Given the description of an element on the screen output the (x, y) to click on. 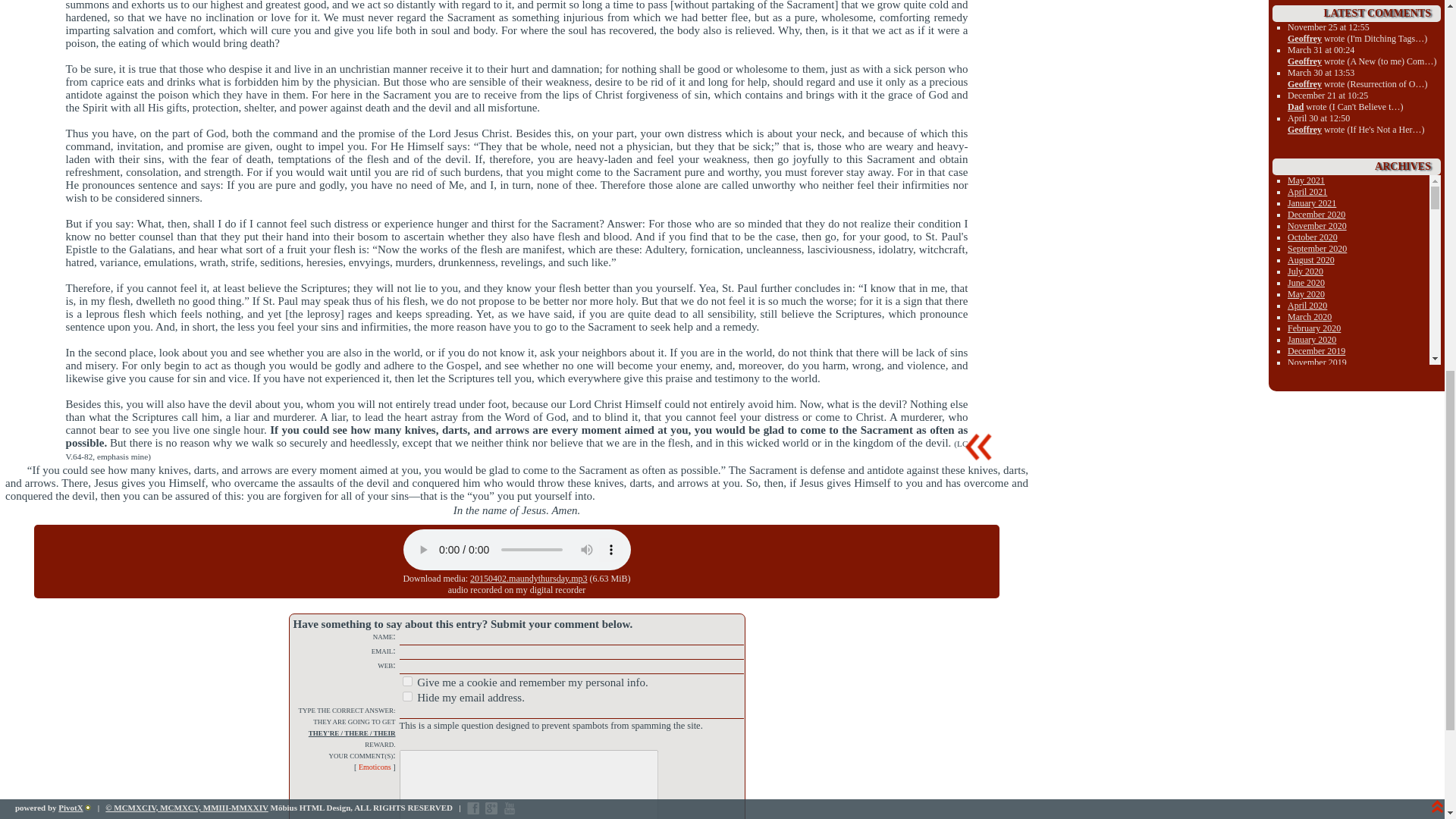
1 (406, 681)
1 (406, 696)
